Given the description of an element on the screen output the (x, y) to click on. 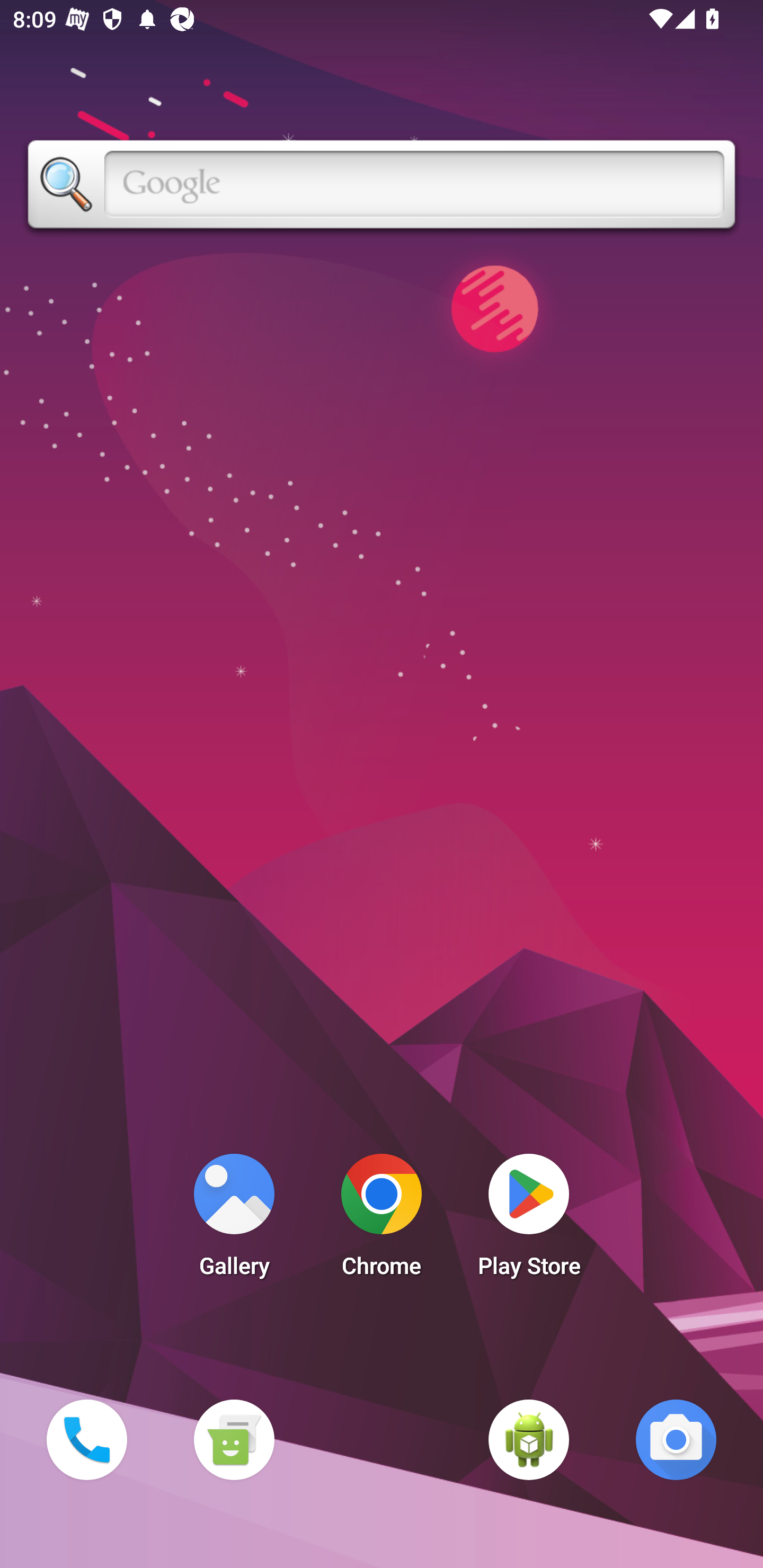
Gallery (233, 1220)
Chrome (381, 1220)
Play Store (528, 1220)
Phone (86, 1439)
Messaging (233, 1439)
WebView Browser Tester (528, 1439)
Camera (676, 1439)
